Given the description of an element on the screen output the (x, y) to click on. 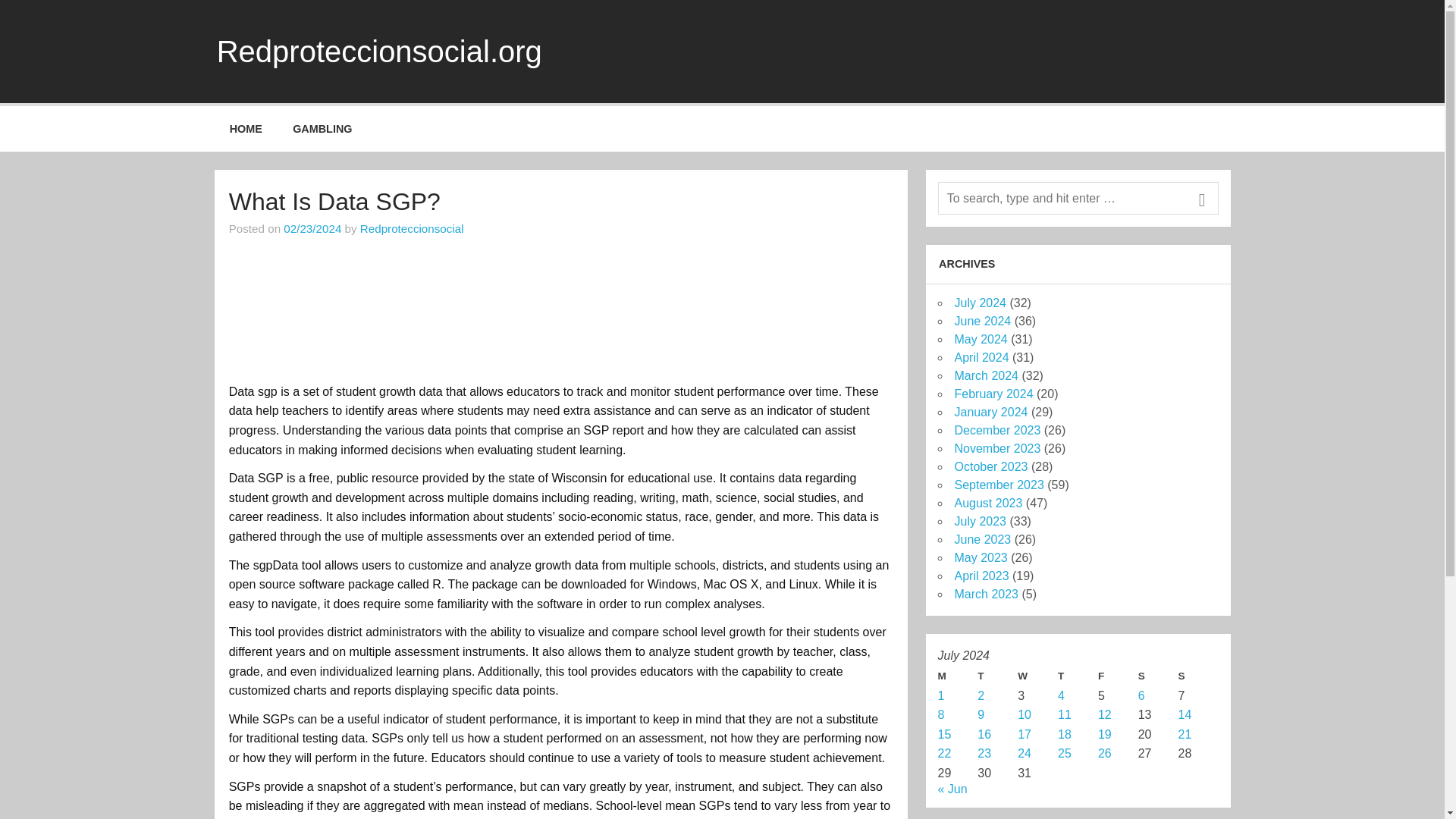
July 2024 (979, 302)
19 (1104, 734)
9 (980, 714)
Redproteccionsocial (411, 228)
August 2023 (987, 502)
September 2023 (998, 484)
GAMBLING (323, 128)
Friday (1117, 676)
15 (943, 734)
2 (980, 695)
April 2024 (981, 357)
HOME (246, 128)
View all posts by Redproteccionsocial (411, 228)
Tuesday (996, 676)
4:09 am (311, 228)
